Given the description of an element on the screen output the (x, y) to click on. 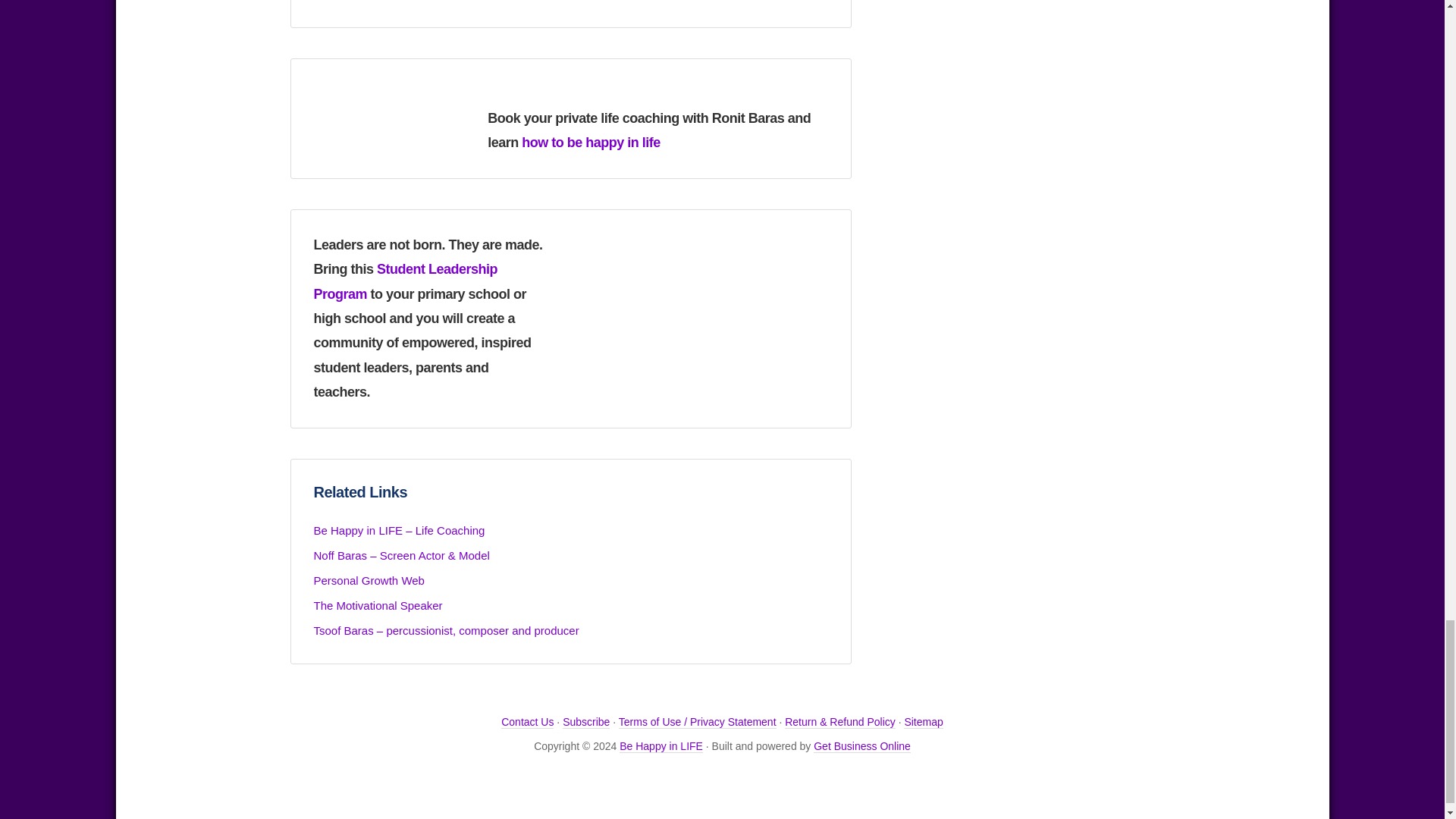
Life coaching (591, 142)
Student Leadership Programs with Ronit Baras (405, 281)
Be Happy in LIFE Coaching (661, 746)
Live, learn, grow, share. Personal growth blog (369, 580)
My life coaching site (399, 530)
Be Happy in LIFE - life coaching (389, 115)
My public speaking site (378, 604)
